Given the description of an element on the screen output the (x, y) to click on. 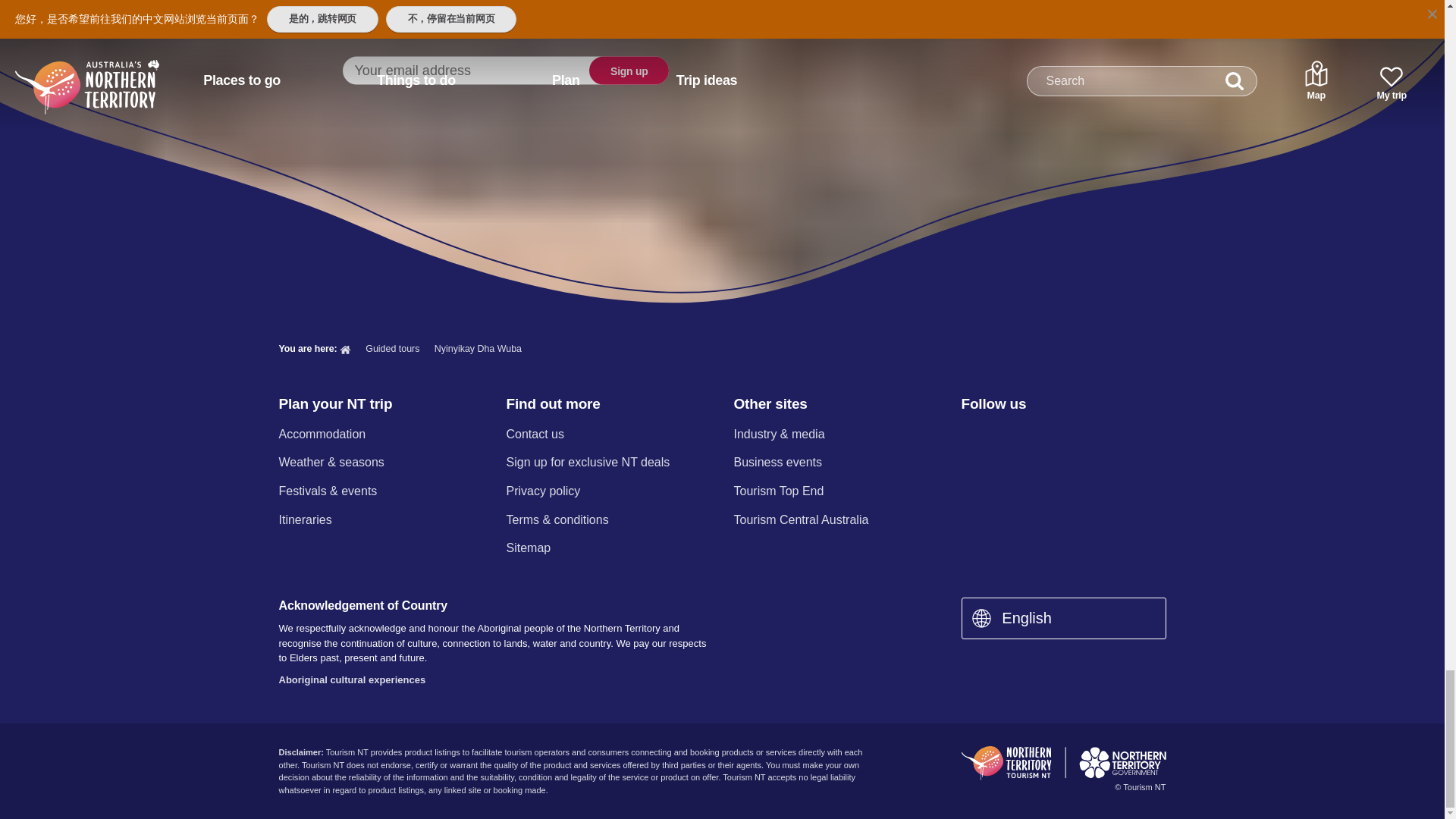
Facebook (970, 435)
Twitter (1050, 435)
YouTube (1089, 435)
Instagram (1009, 435)
